Given the description of an element on the screen output the (x, y) to click on. 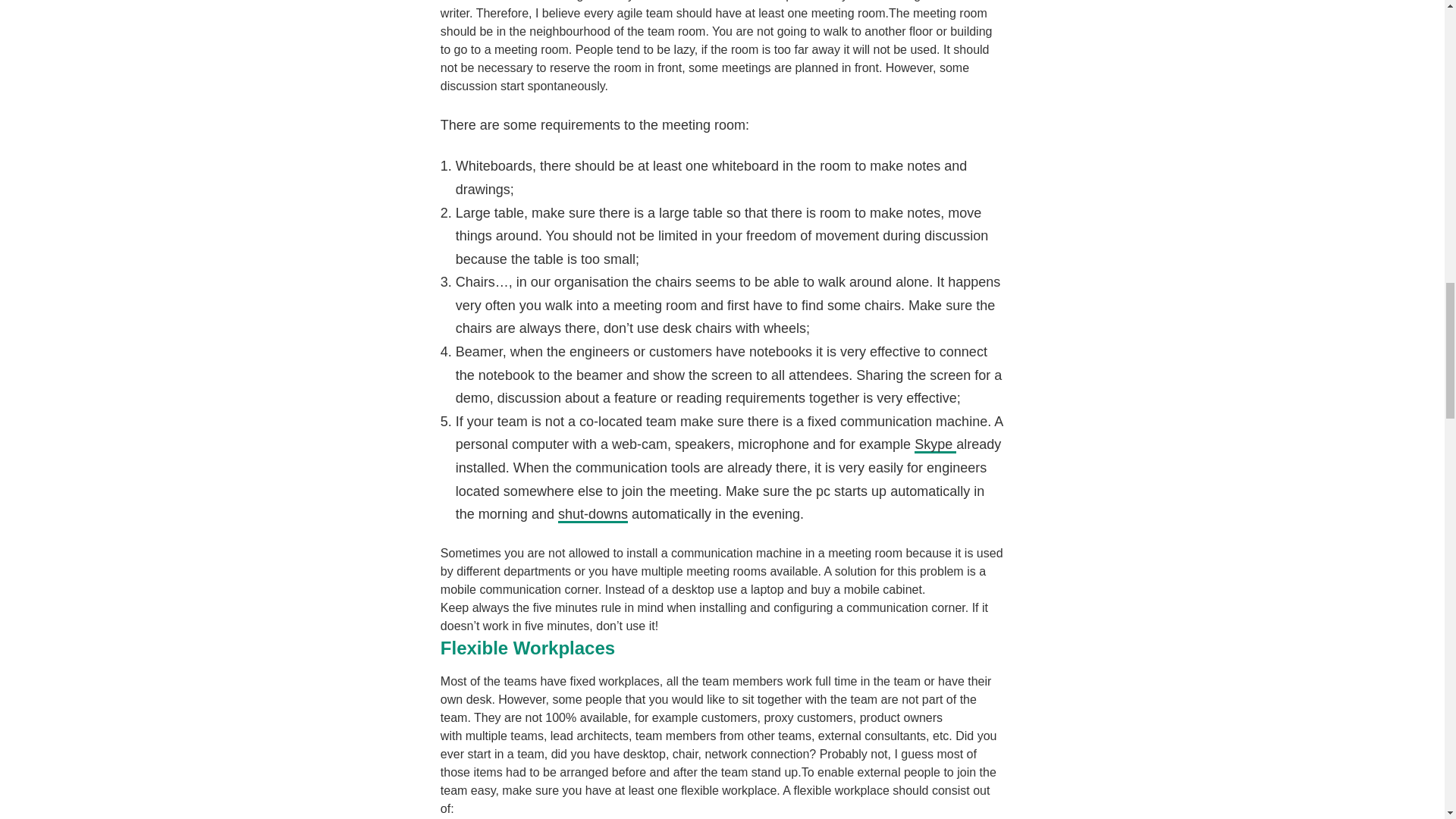
Skype (935, 444)
